Given the description of an element on the screen output the (x, y) to click on. 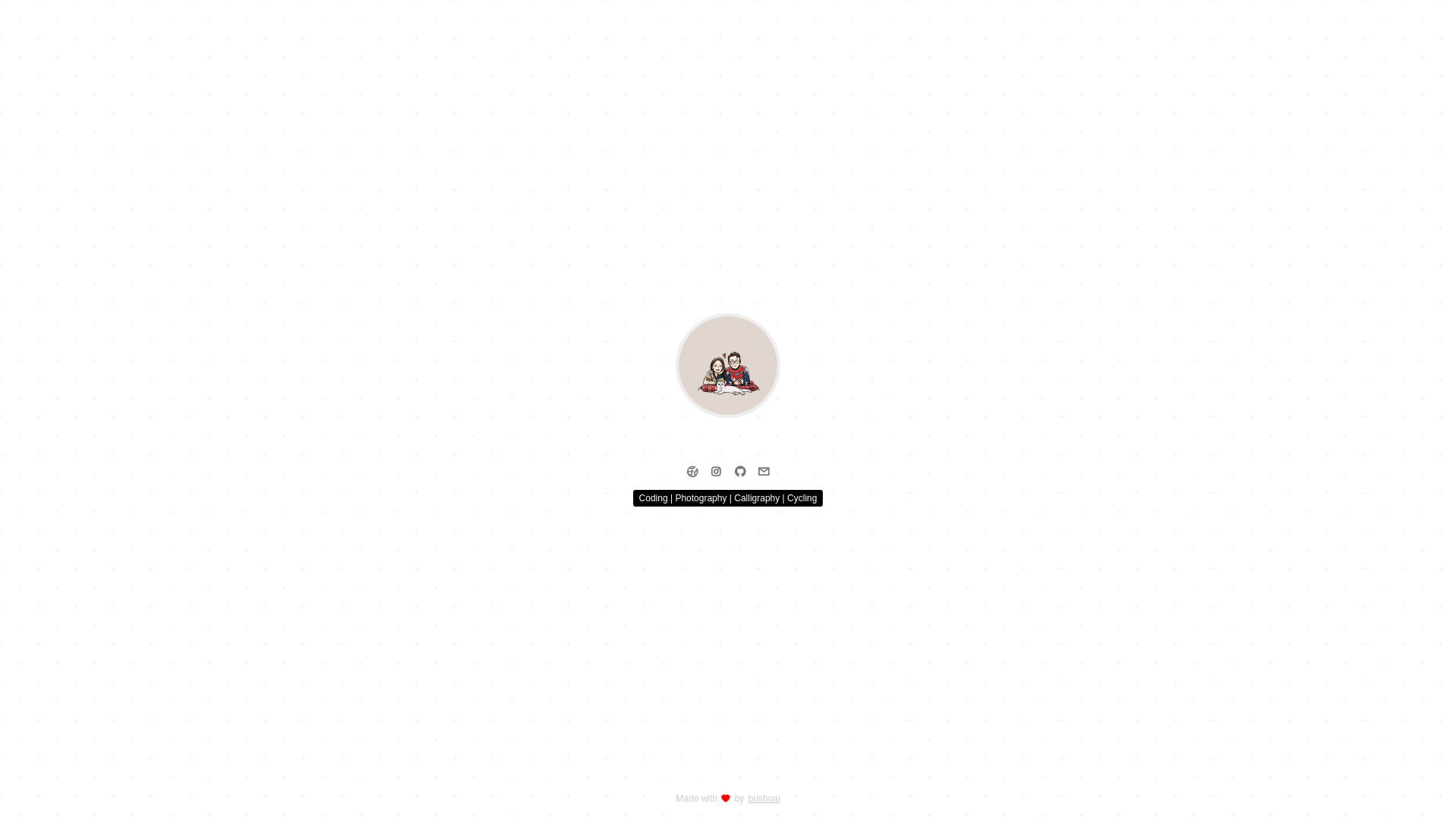
bushuai Element type: text (764, 798)
